Given the description of an element on the screen output the (x, y) to click on. 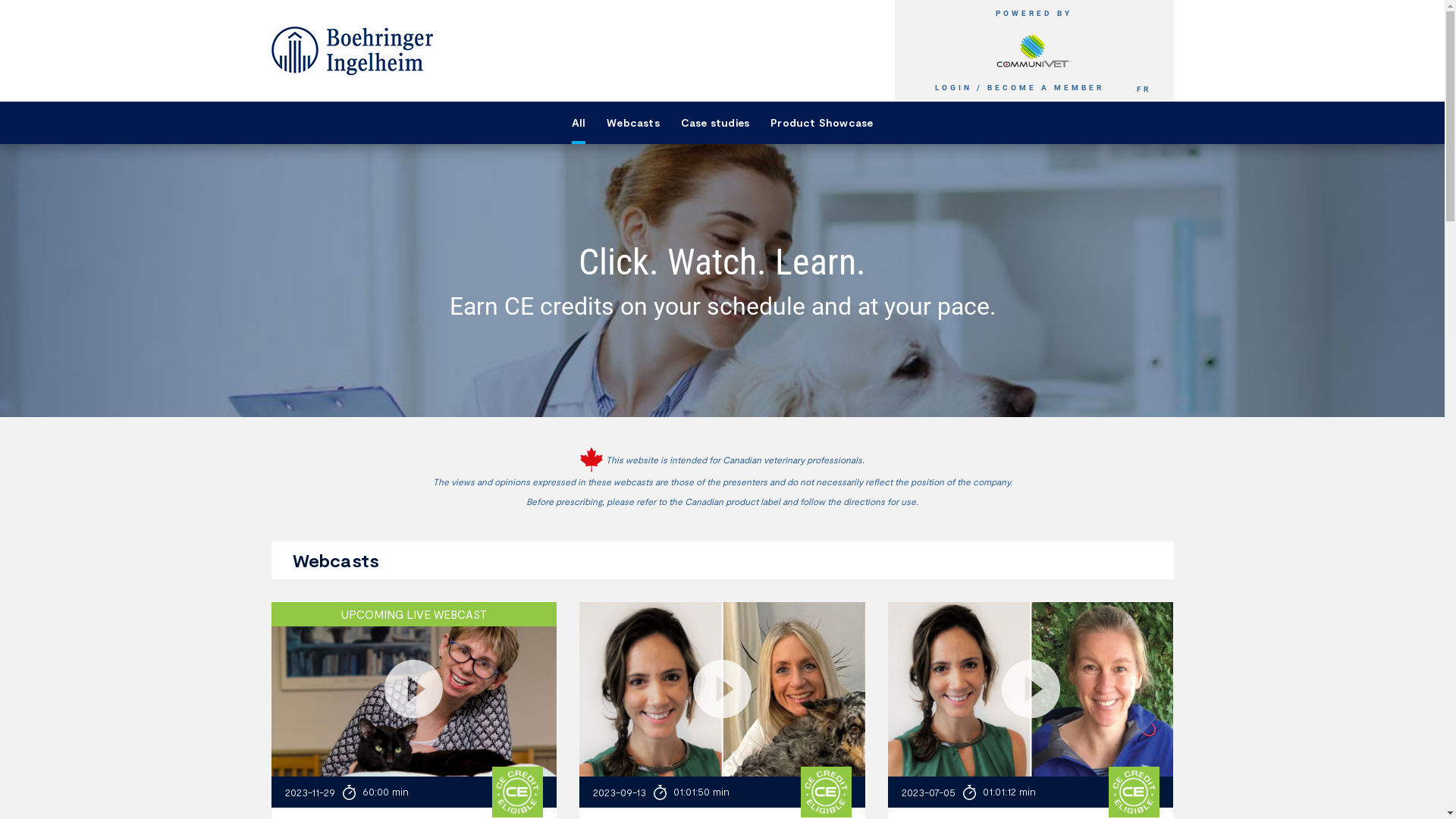
LOGIN / BECOME A MEMBER Element type: text (1019, 88)
FR Element type: text (1142, 89)
Webcasts Element type: text (632, 122)
UPCOMING LIVE WEBCAST Element type: text (414, 689)
All Element type: text (578, 122)
Product Showcase Element type: text (821, 122)
Case studies Element type: text (714, 122)
